Given the description of an element on the screen output the (x, y) to click on. 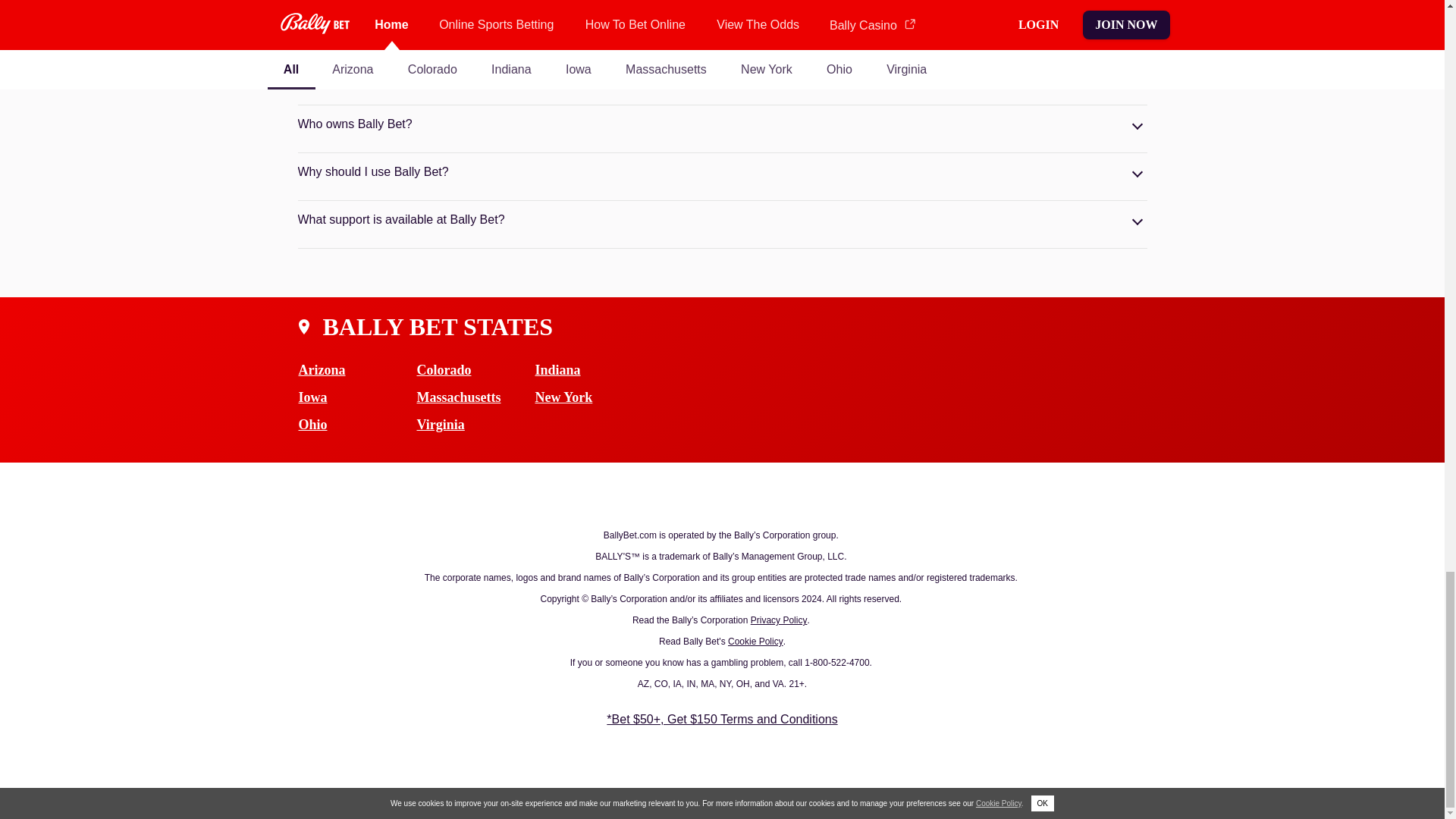
Colorado (475, 369)
Privacy Policy (779, 620)
Massachusetts (475, 396)
Virginia (475, 424)
Arizona (357, 369)
New York (594, 396)
Cookie Policy (755, 641)
Indiana (594, 369)
Ohio (357, 424)
Iowa (357, 396)
